Given the description of an element on the screen output the (x, y) to click on. 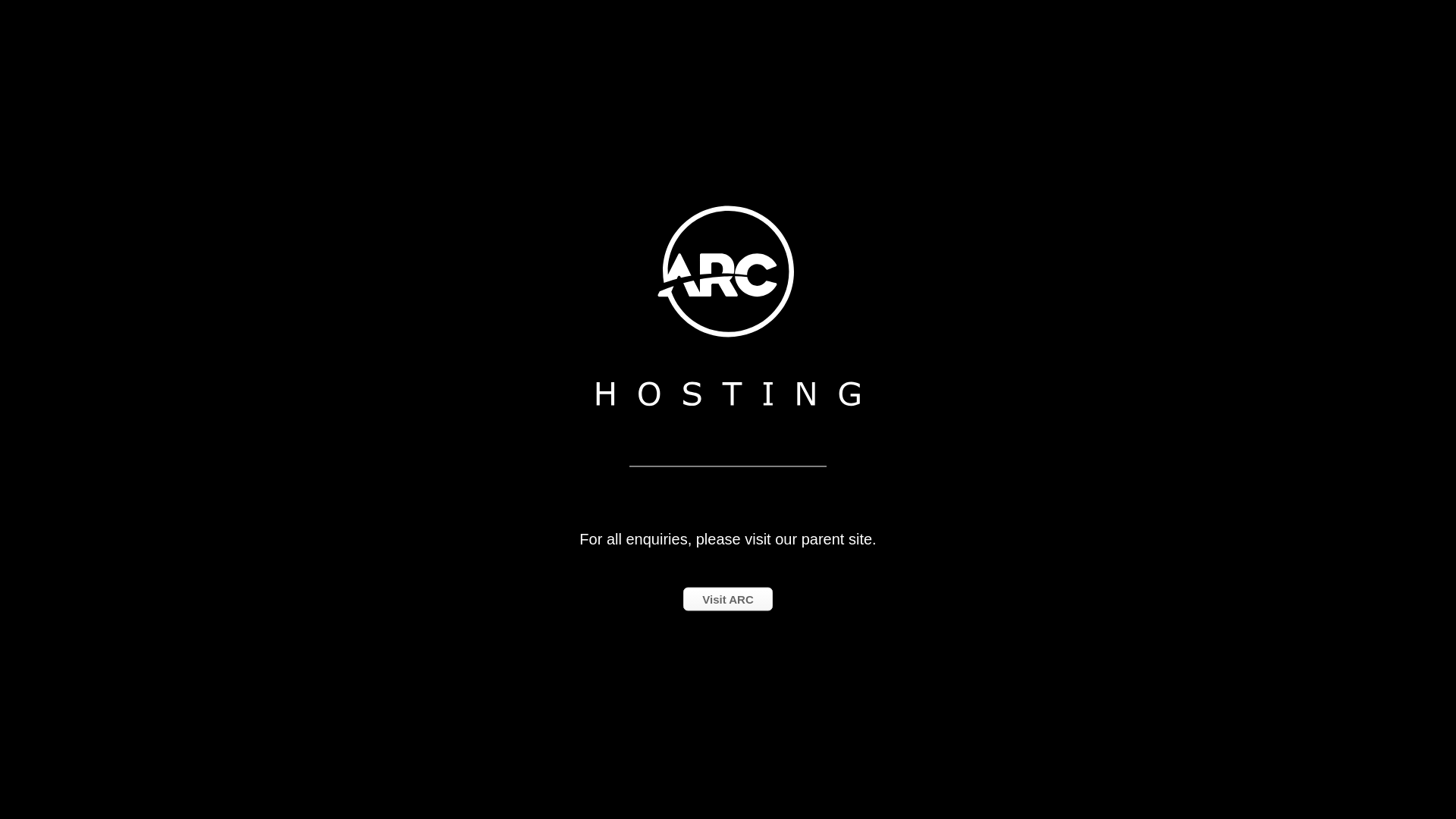
Visit ARC Element type: text (727, 598)
